Given the description of an element on the screen output the (x, y) to click on. 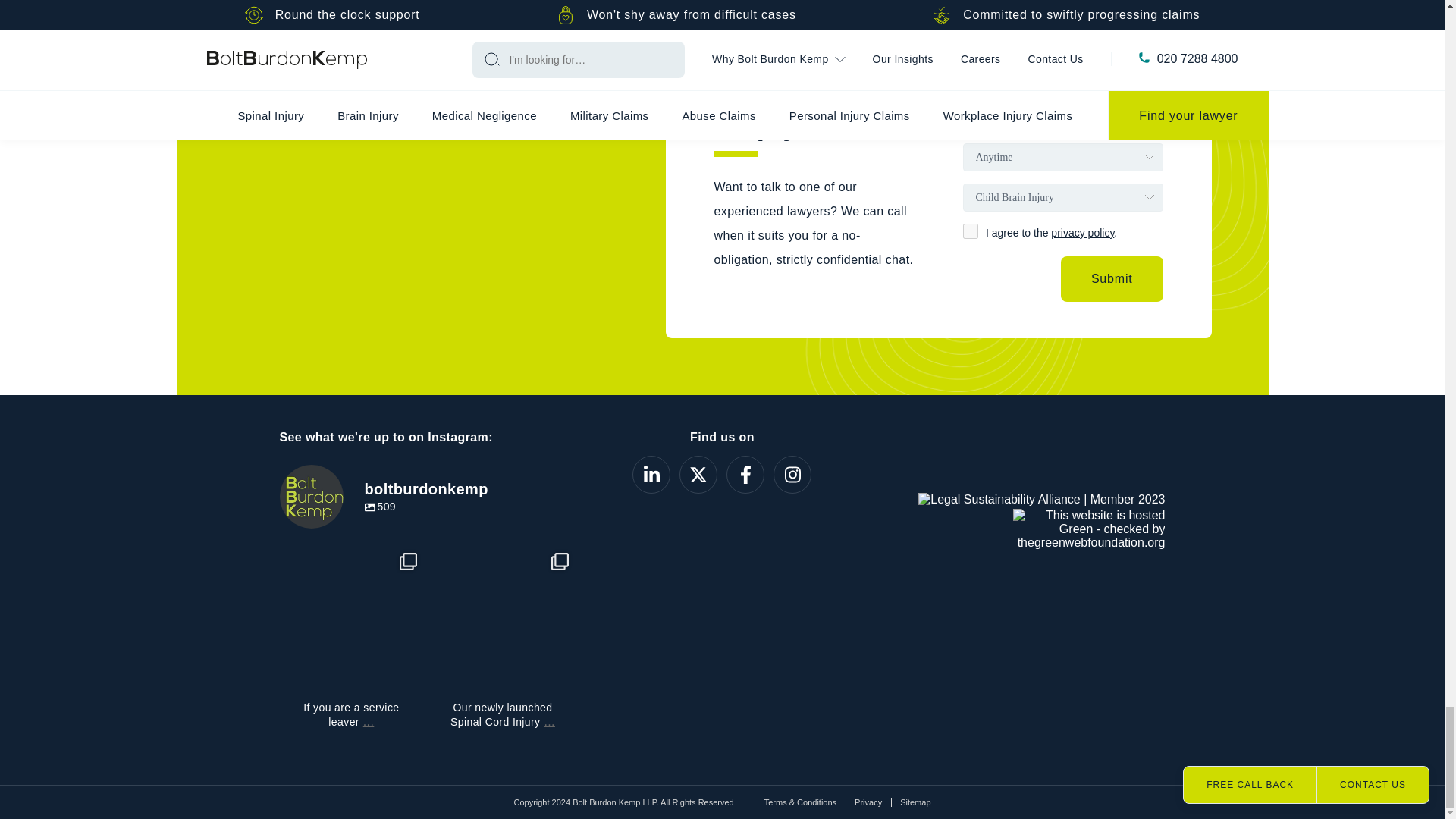
United Kingdom (992, 116)
1 (970, 231)
Submit (1112, 279)
